Given the description of an element on the screen output the (x, y) to click on. 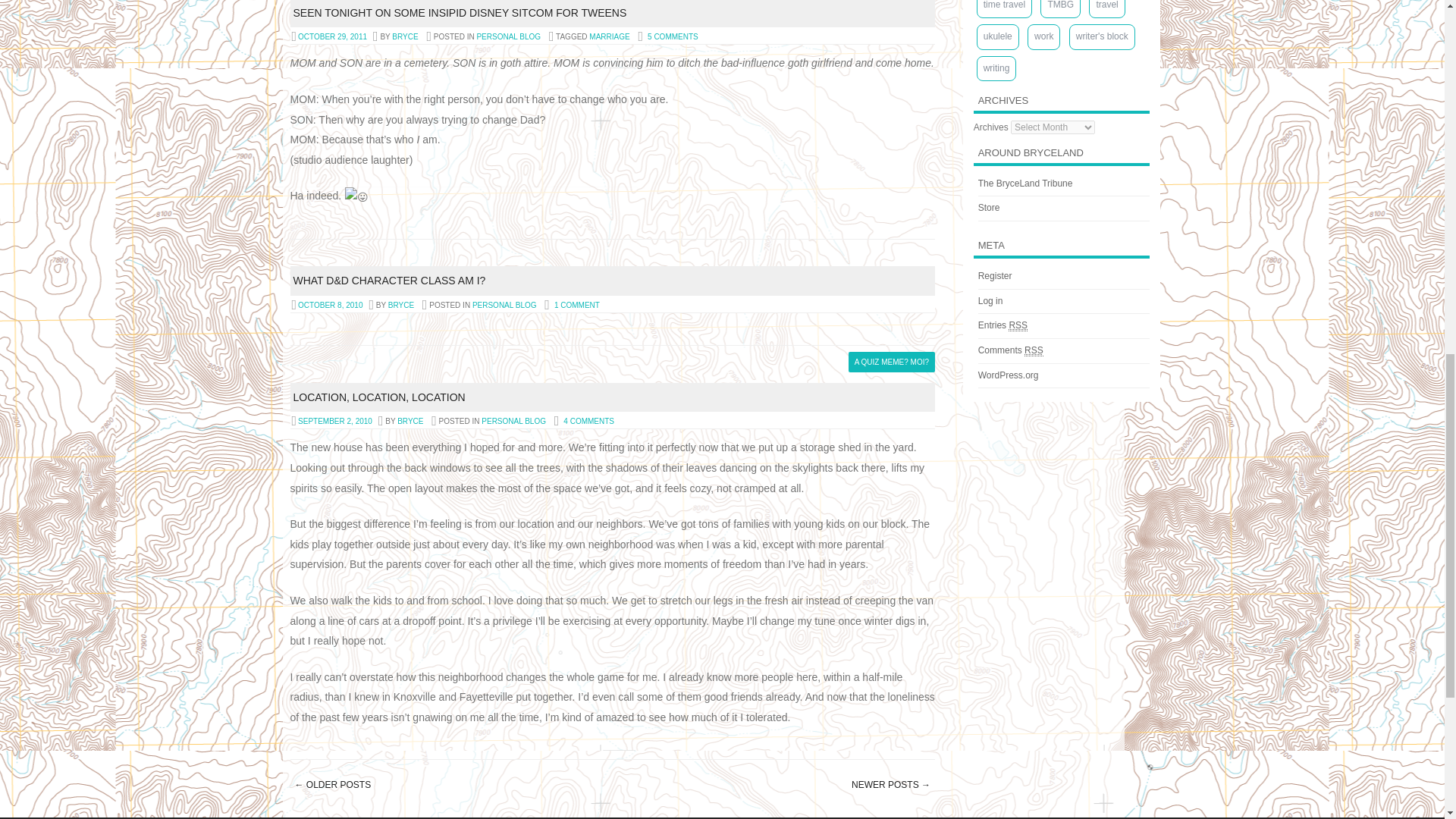
12:51 am (331, 36)
A QUIZ MEME? MOI? (891, 362)
5 COMMENTS (672, 36)
BRYCE (400, 305)
PERSONAL BLOG (508, 36)
Permalink to Location, Location, Location (378, 397)
LOCATION, LOCATION, LOCATION (378, 397)
BRYCE (404, 36)
PERSONAL BLOG (504, 305)
View all posts by Bryce (404, 36)
View all posts by Bryce (400, 305)
OCTOBER 8, 2010 (329, 305)
10:37 am (329, 305)
MARRIAGE (608, 36)
